Given the description of an element on the screen output the (x, y) to click on. 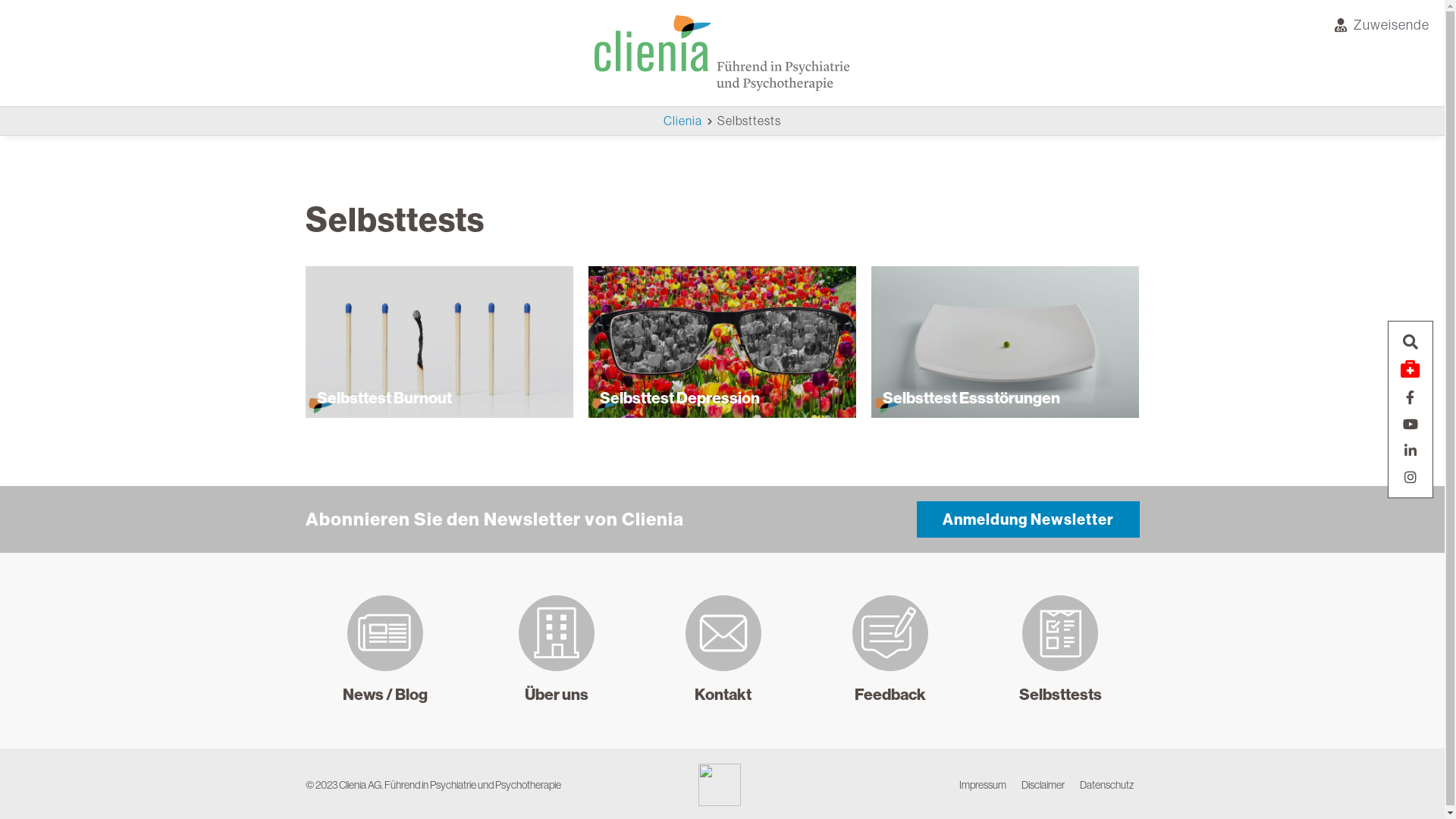
Zuweisende Element type: text (1381, 24)
Selbsttests Element type: text (1060, 694)
Anmeldung Newsletter Element type: text (1027, 519)
Selbsttests 2 Element type: hover (722, 341)
Disclaimer Element type: text (1042, 784)
Impressum Element type: text (982, 784)
Feedback Element type: text (889, 694)
Selbsttests 3 Element type: hover (1005, 341)
News / Blog Element type: text (384, 694)
Clienia Element type: text (682, 120)
Selbsttests 1 Element type: hover (438, 341)
Kontakt Element type: text (722, 694)
Datenschutz Element type: text (1106, 784)
